Given the description of an element on the screen output the (x, y) to click on. 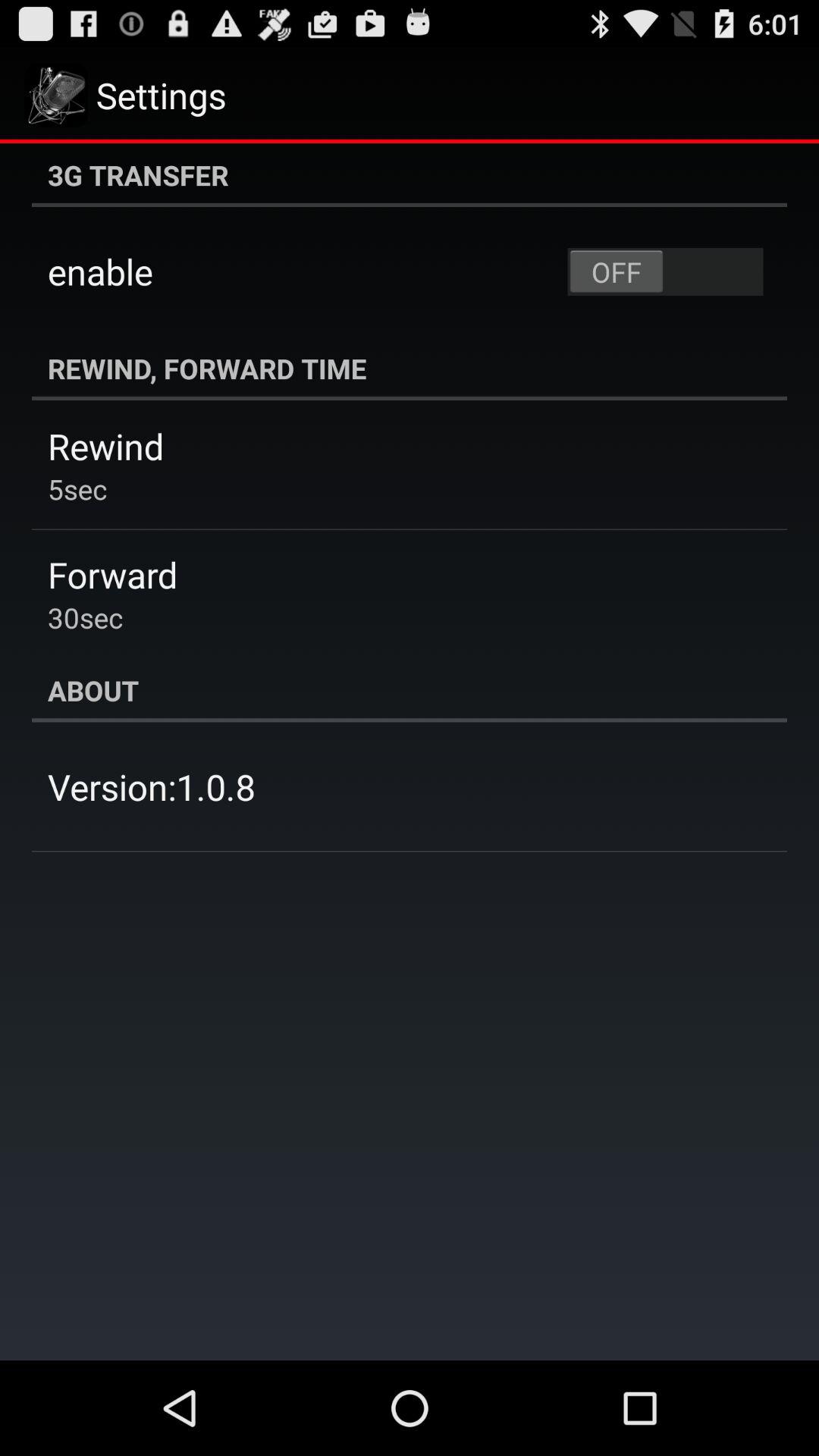
select app at the center (409, 690)
